Given the description of an element on the screen output the (x, y) to click on. 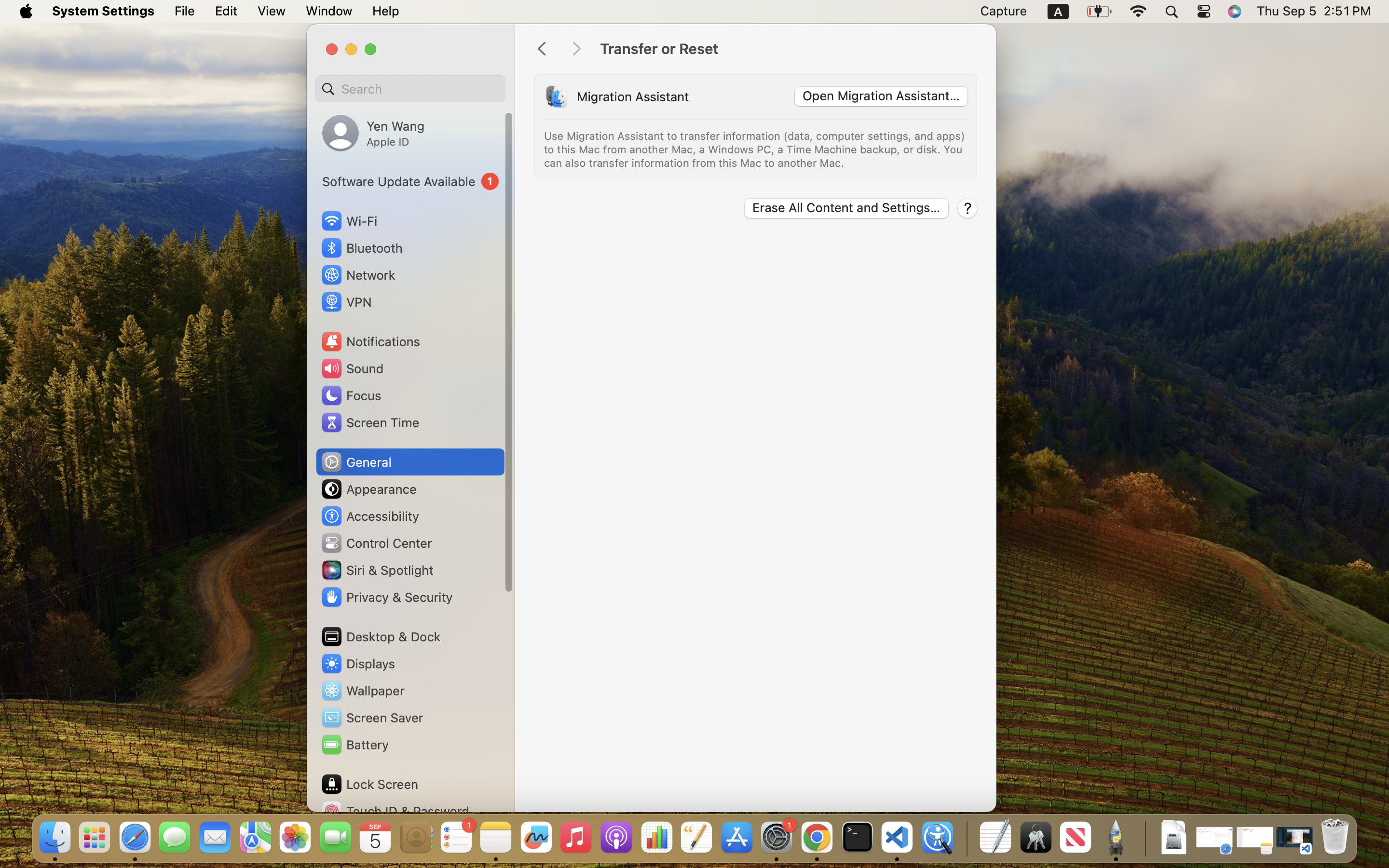
Desktop & Dock Element type: AXStaticText (380, 636)
Bluetooth Element type: AXStaticText (361, 247)
Screen Saver Element type: AXStaticText (371, 717)
General Element type: AXStaticText (355, 461)
Focus Element type: AXStaticText (350, 394)
